Given the description of an element on the screen output the (x, y) to click on. 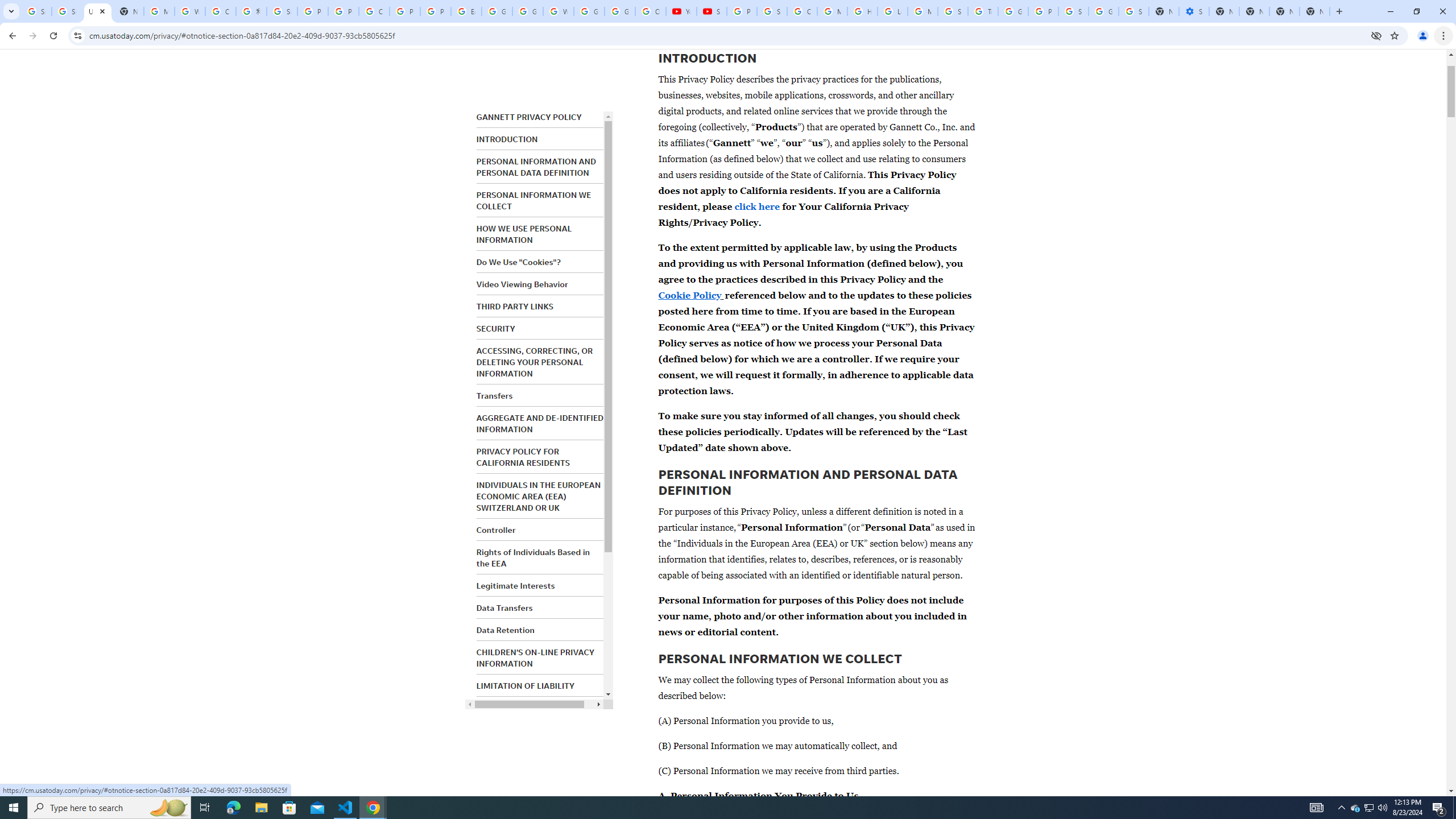
Create your Google Account (220, 11)
Legitimate Interests (515, 585)
Sign in - Google Accounts (282, 11)
Sign in - Google Accounts (1072, 11)
Sign in - Google Accounts (1133, 11)
Google Ads - Sign in (1012, 11)
Forward (32, 35)
USA TODAY (97, 11)
Settings - Performance (1193, 11)
Search tabs (10, 11)
Welcome to My Activity (558, 11)
You (1422, 35)
